Given the description of an element on the screen output the (x, y) to click on. 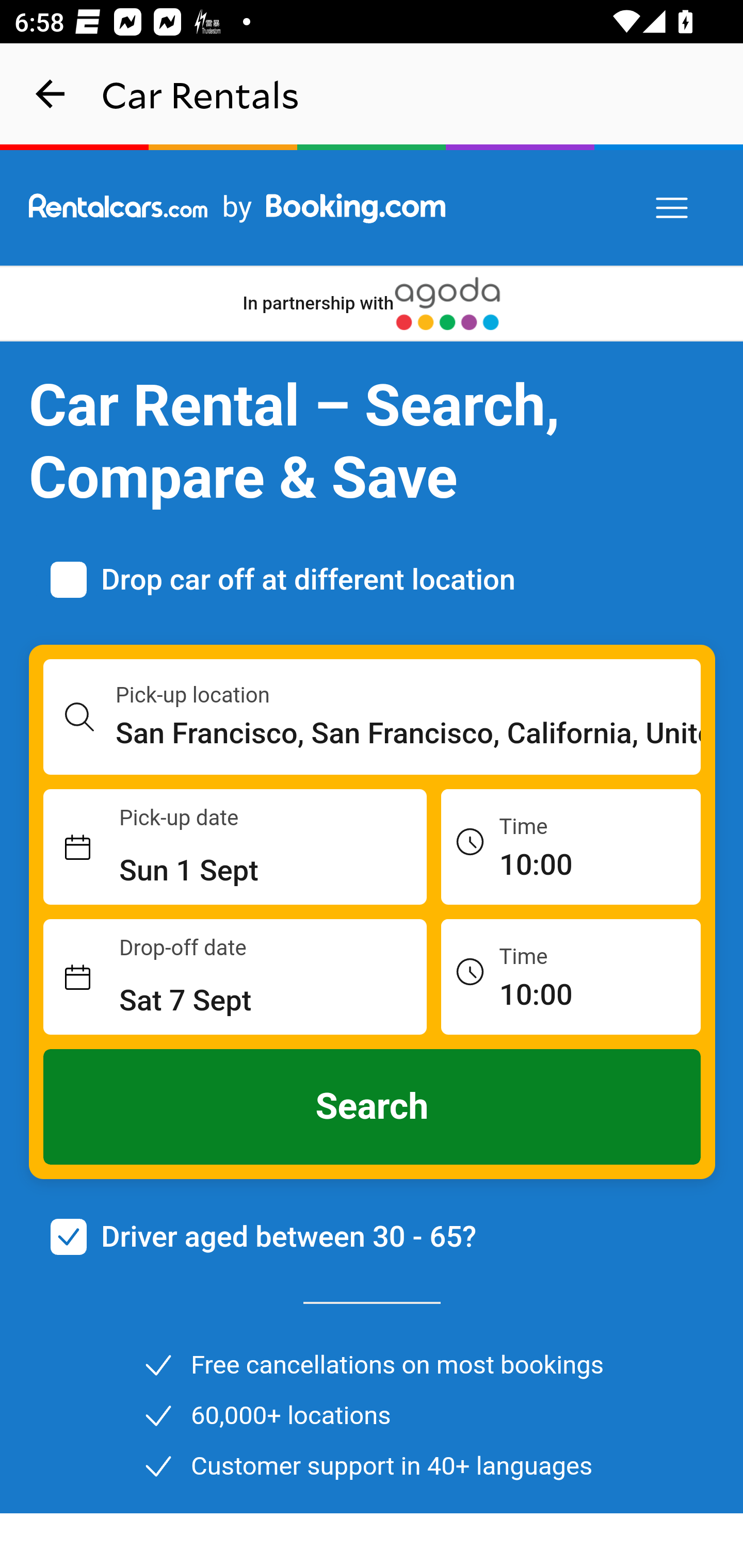
navigation_button (50, 93)
